Given the description of an element on the screen output the (x, y) to click on. 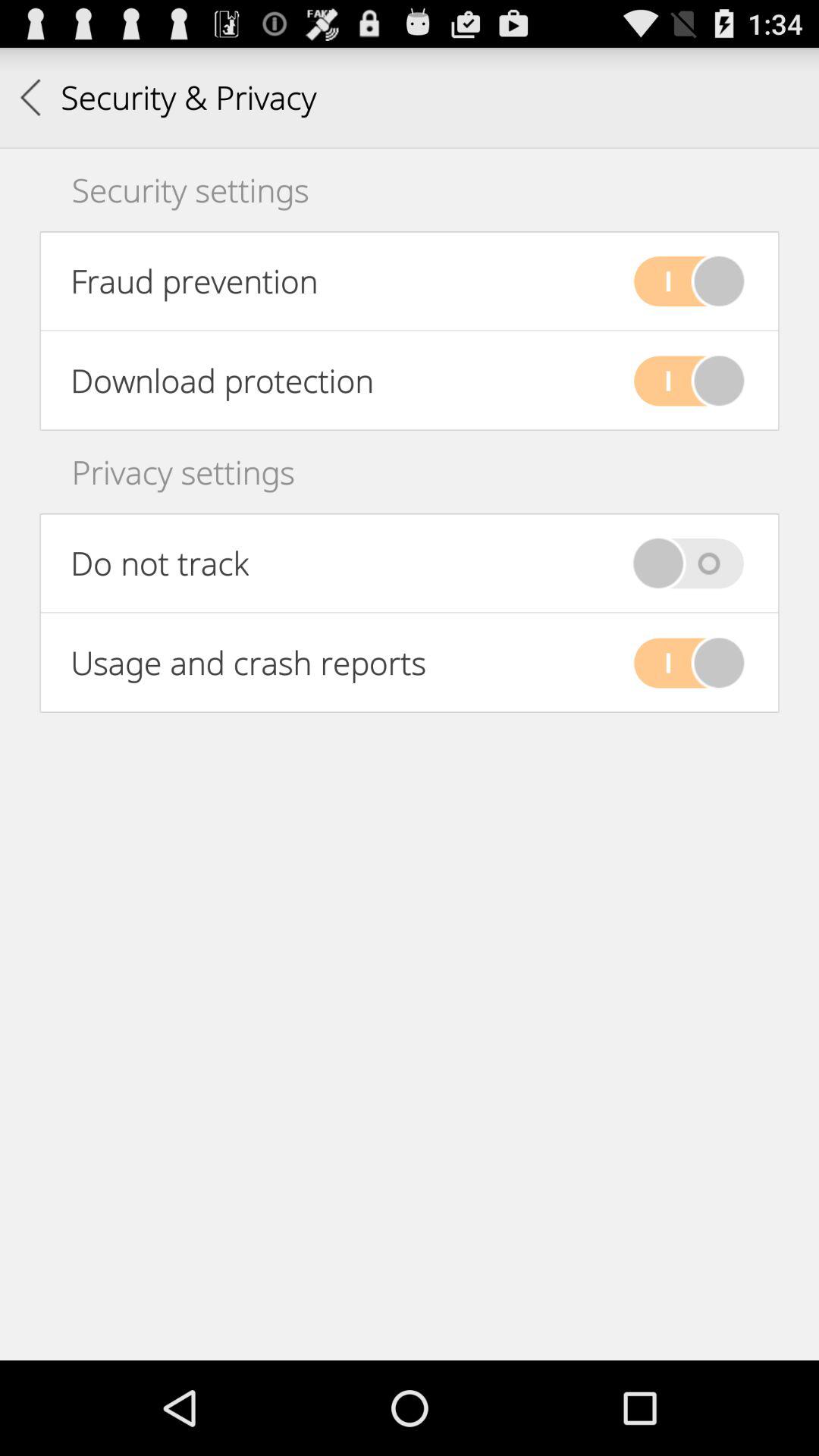
go to second option (409, 380)
